Given the description of an element on the screen output the (x, y) to click on. 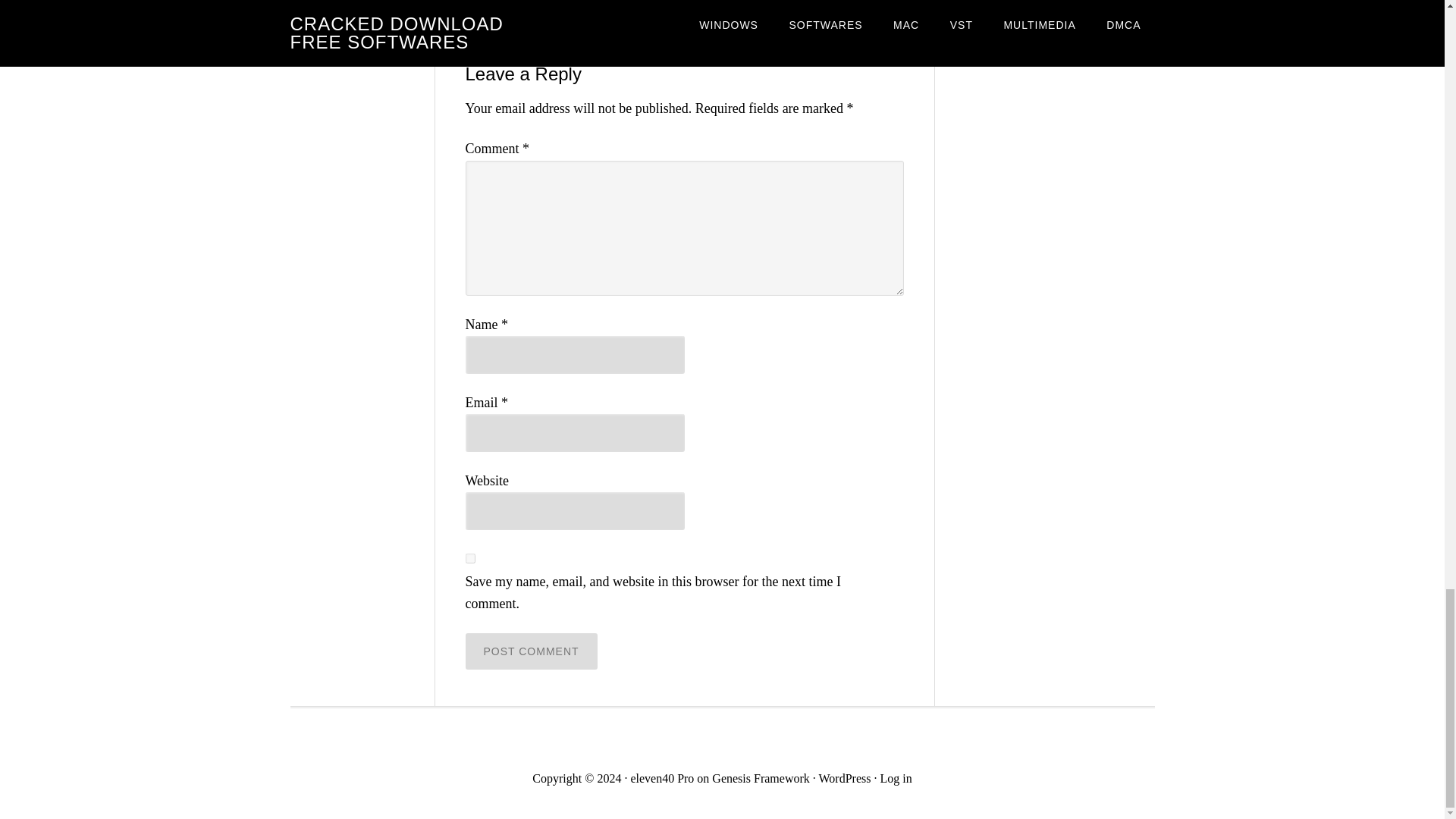
File Extentions Windows 11 (597, 22)
Post Comment (530, 651)
Genesis Framework (760, 778)
eleven40 Pro (662, 778)
Post Comment (530, 651)
yes (470, 558)
WordPress (844, 778)
